Given the description of an element on the screen output the (x, y) to click on. 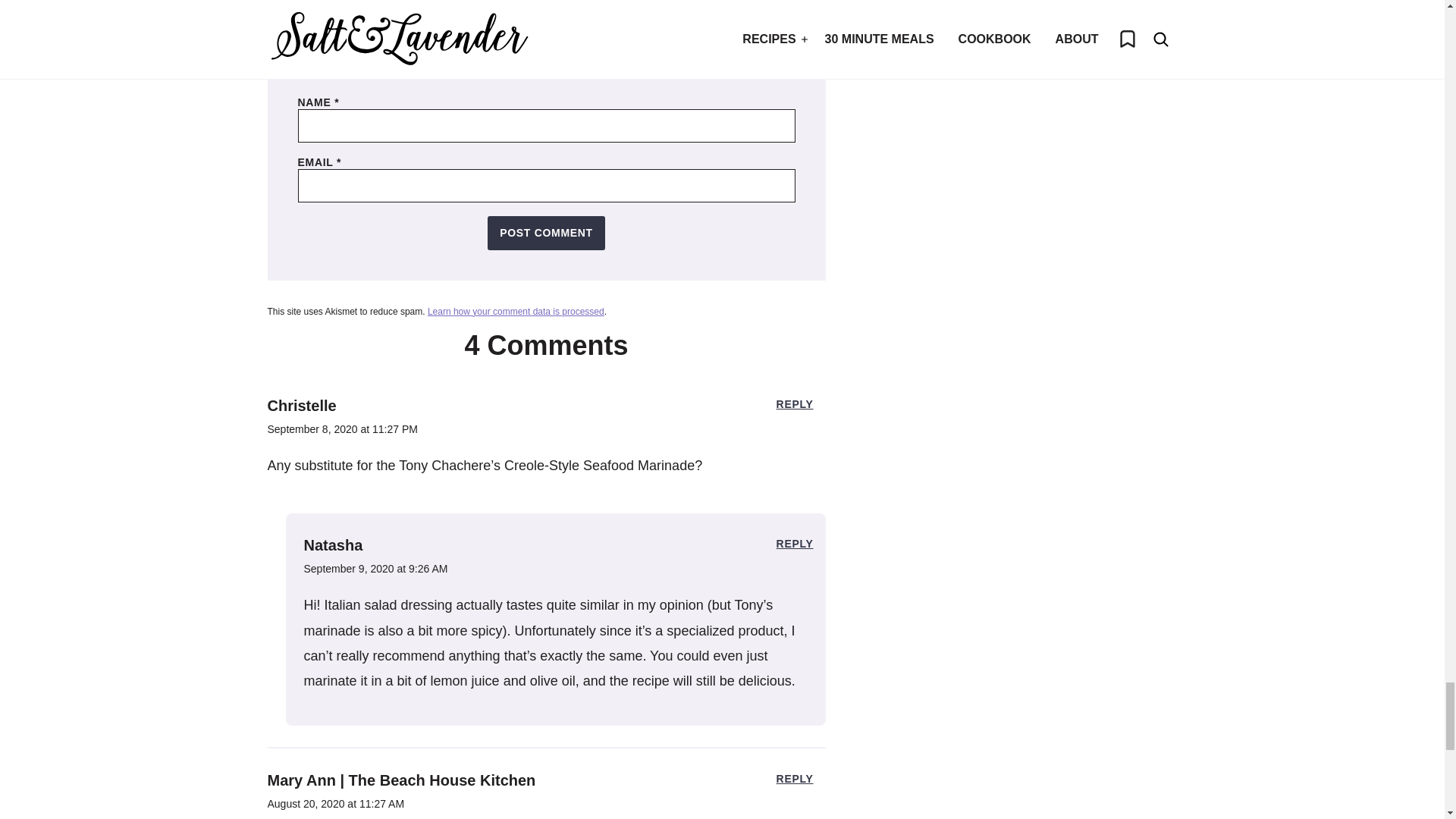
Post Comment (546, 233)
